Given the description of an element on the screen output the (x, y) to click on. 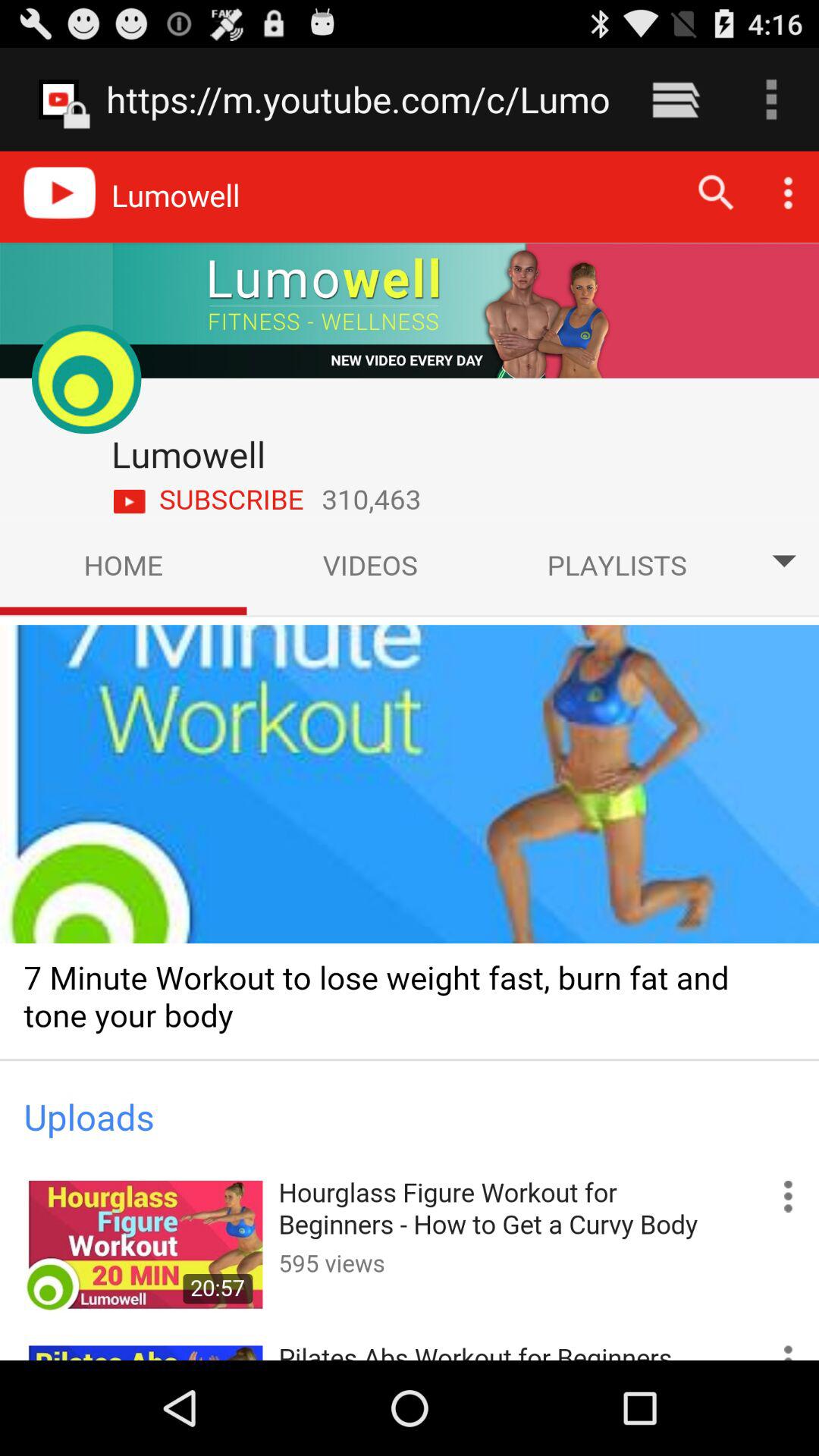
click icon next to https m youtube icon (675, 99)
